Given the description of an element on the screen output the (x, y) to click on. 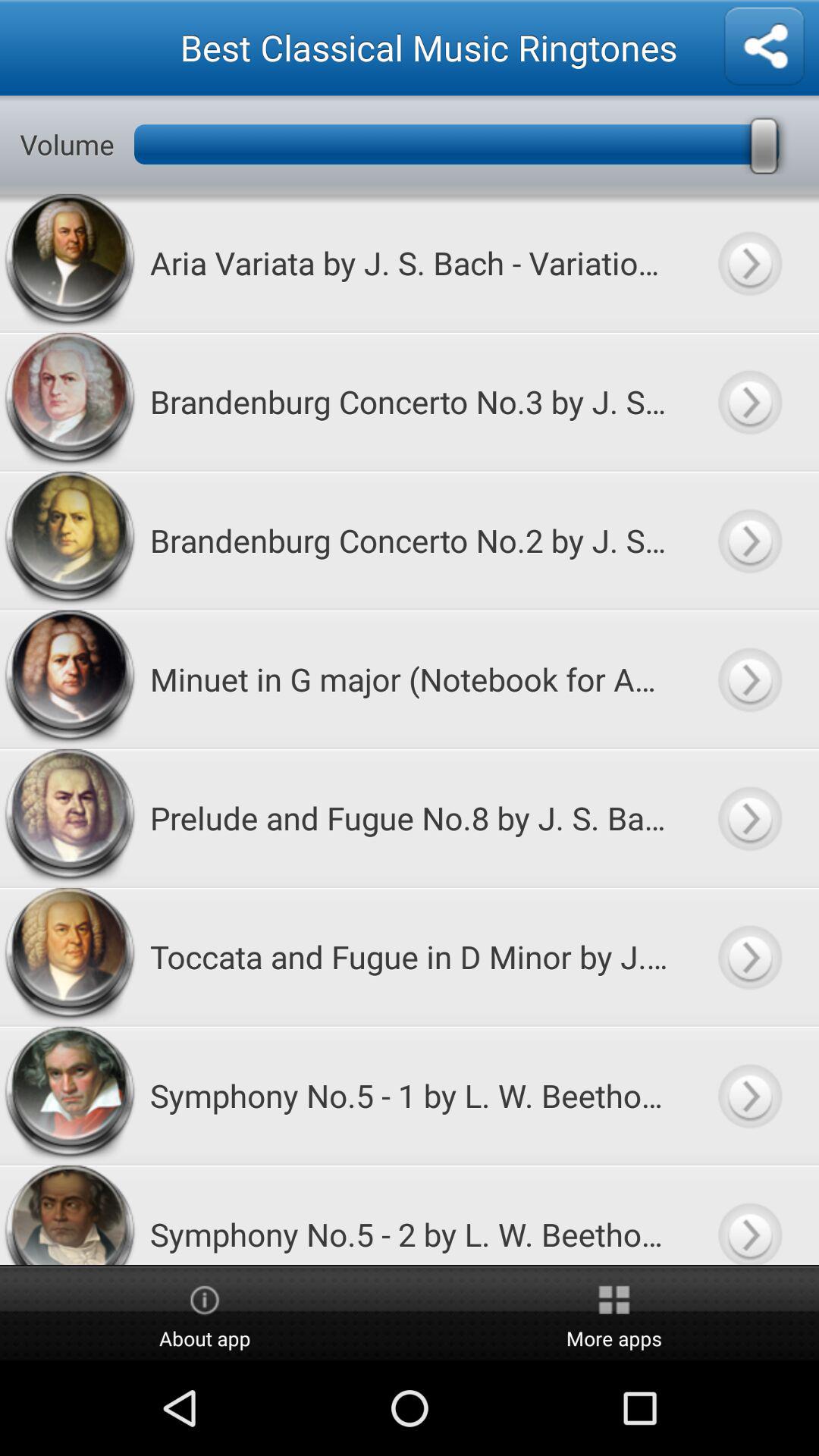
listen to song (749, 1095)
